Given the description of an element on the screen output the (x, y) to click on. 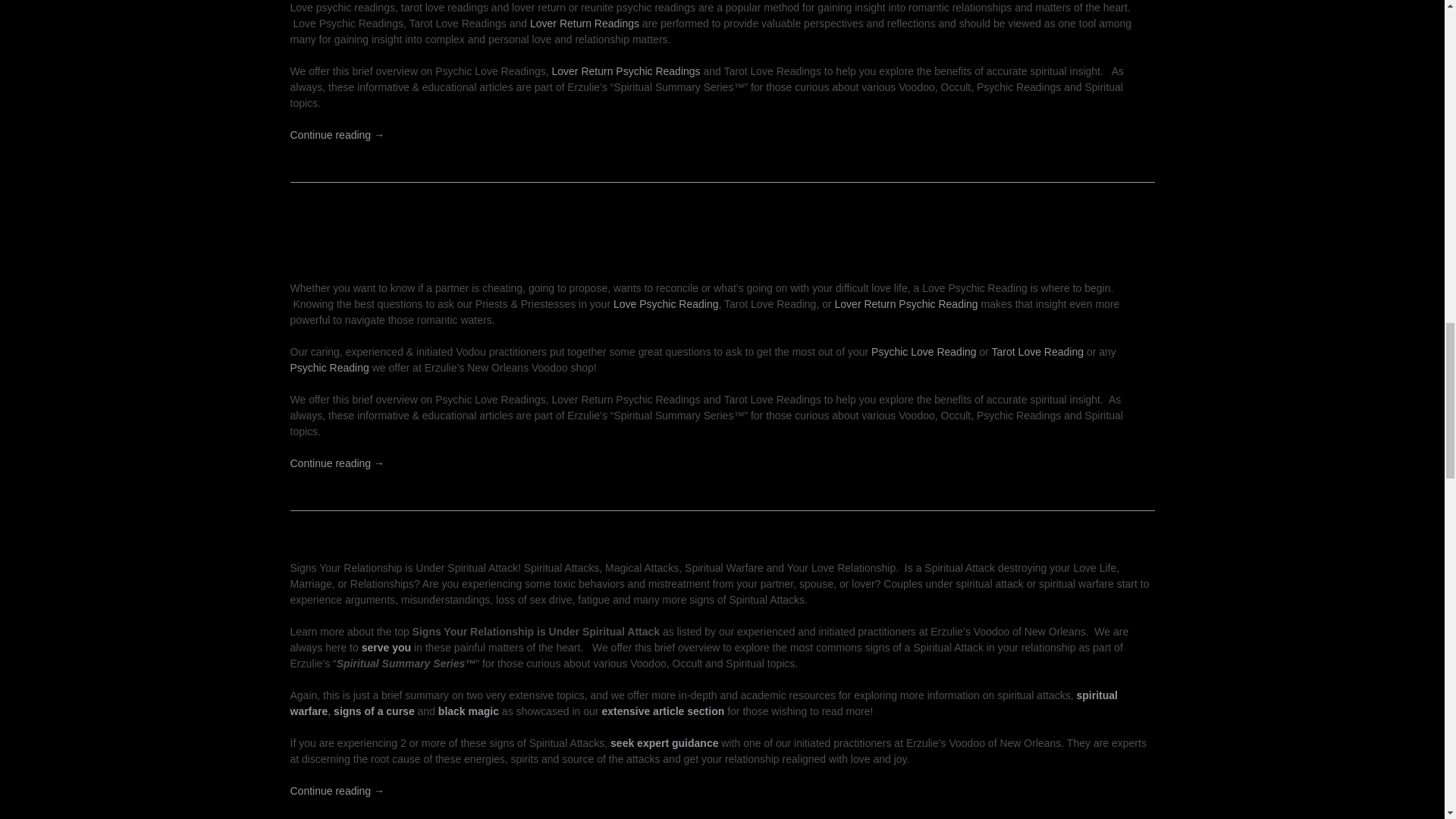
Lover Return Psychic Readings (625, 70)
Lover Return Readings (584, 23)
